Given the description of an element on the screen output the (x, y) to click on. 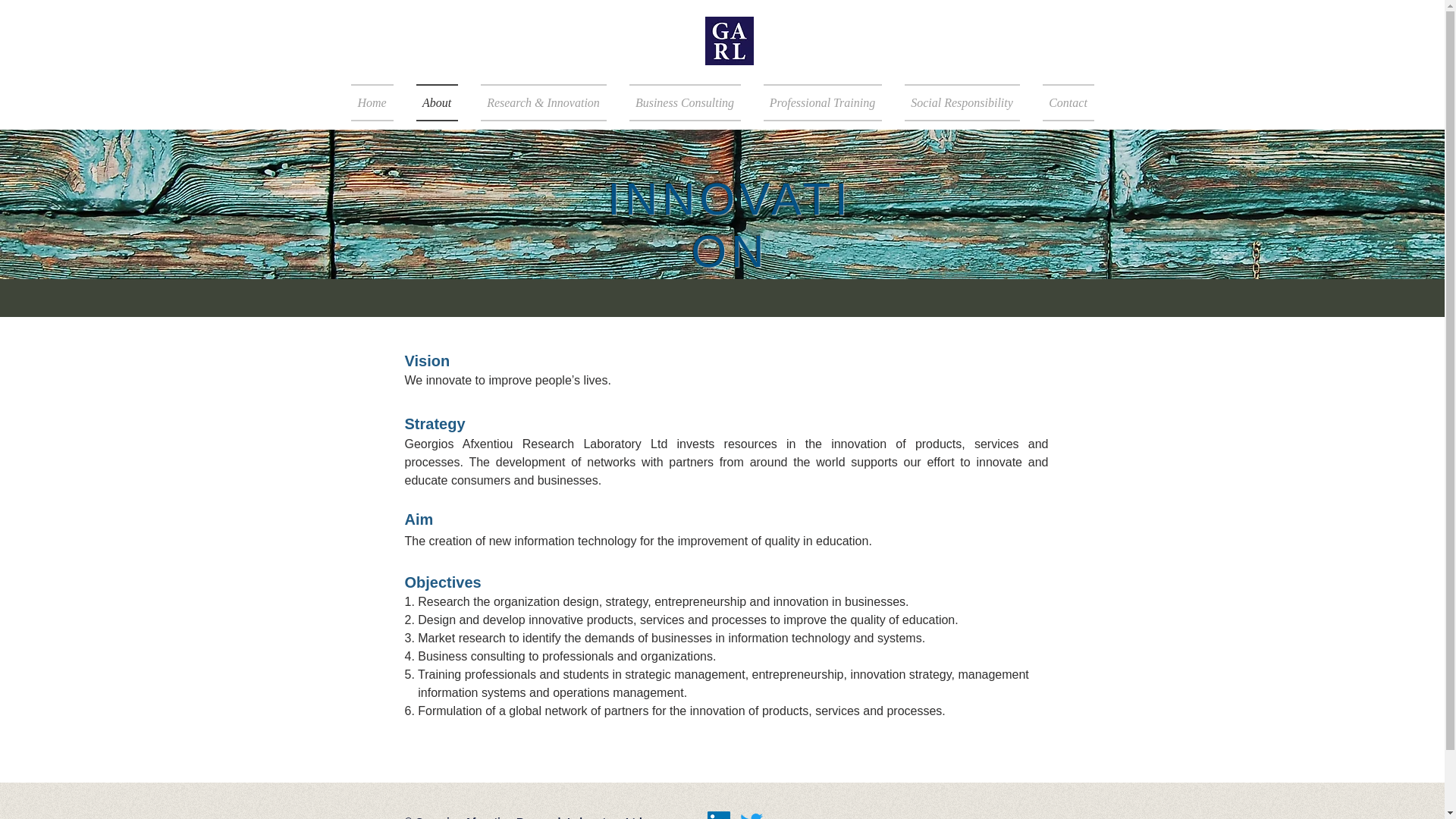
Professional Training (822, 102)
Home (377, 102)
Contact (1062, 102)
About (436, 102)
Business Consulting (684, 102)
Social Responsibility (961, 102)
